Given the description of an element on the screen output the (x, y) to click on. 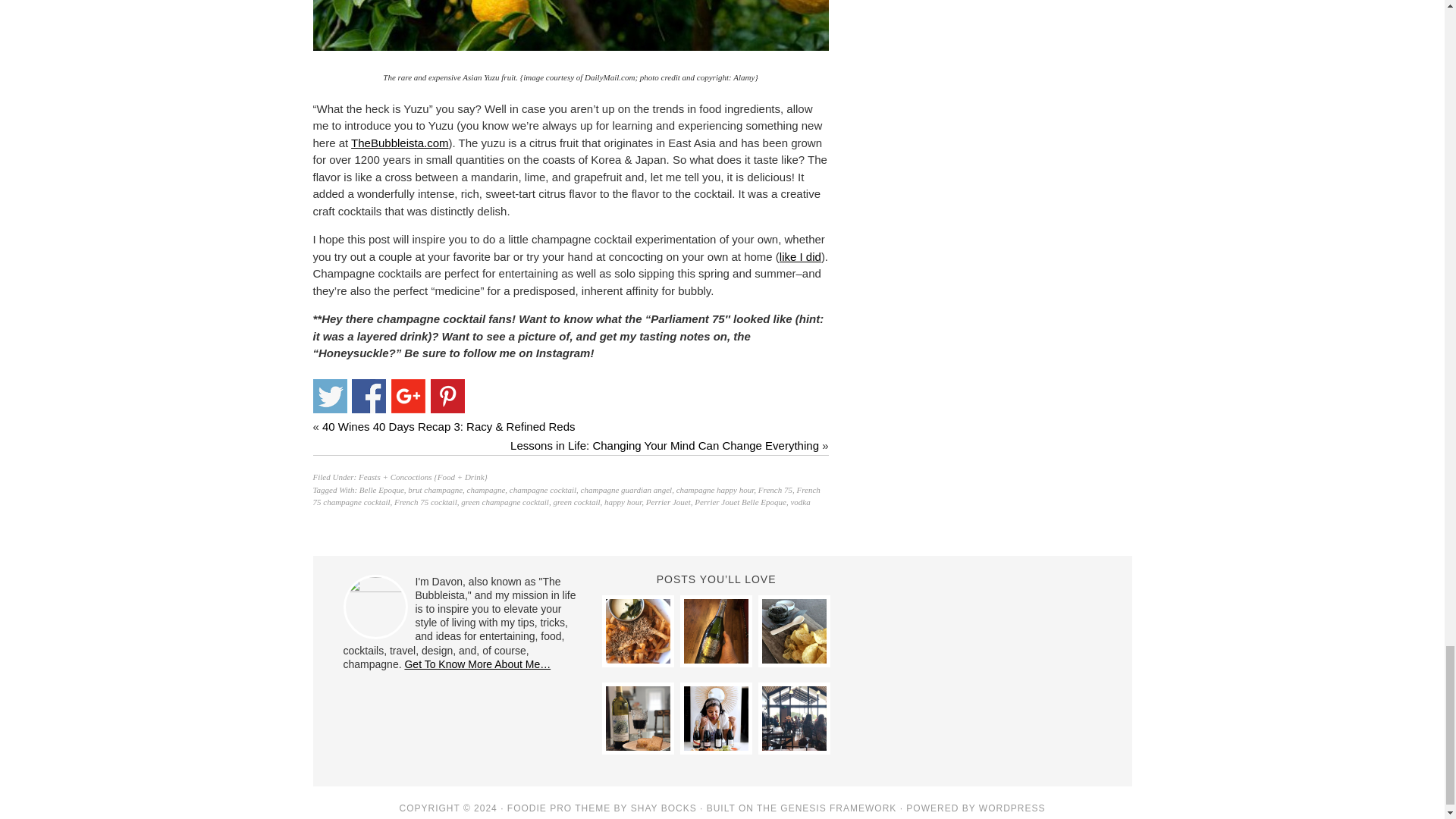
French 75 (775, 489)
Belle Epoque (381, 489)
champagne happy hour (715, 489)
vodka (799, 501)
like I did (799, 256)
French 75 champagne cocktail (566, 495)
happy hour (623, 501)
The Bubbleista.com website (399, 142)
French 75 cocktail (425, 501)
champagne (486, 489)
Lessons in Life: Changing Your Mind Can Change Everything (664, 445)
brut champagne (435, 489)
green champagne cocktail (504, 501)
green cocktail (576, 501)
Share on Twitter (329, 396)
